Given the description of an element on the screen output the (x, y) to click on. 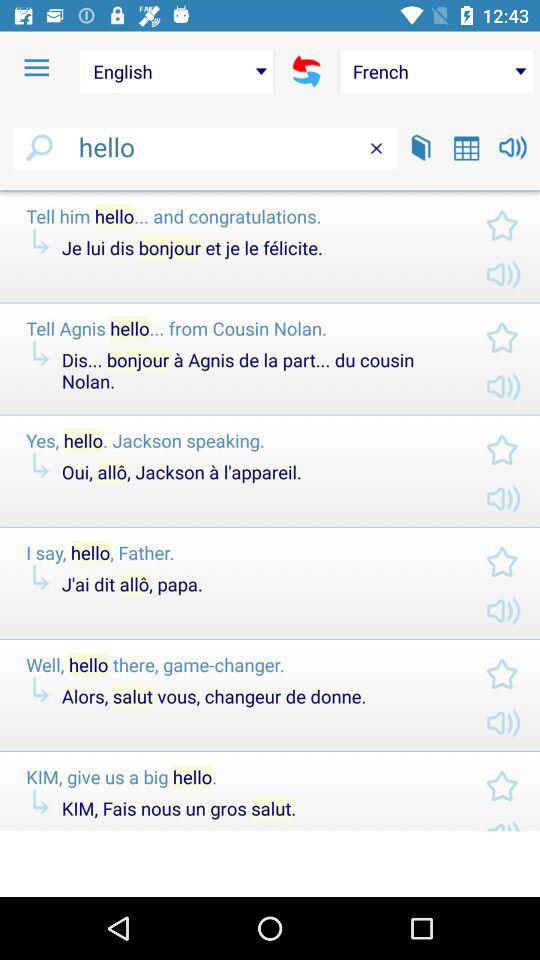
select the icon below french item (466, 148)
